Given the description of an element on the screen output the (x, y) to click on. 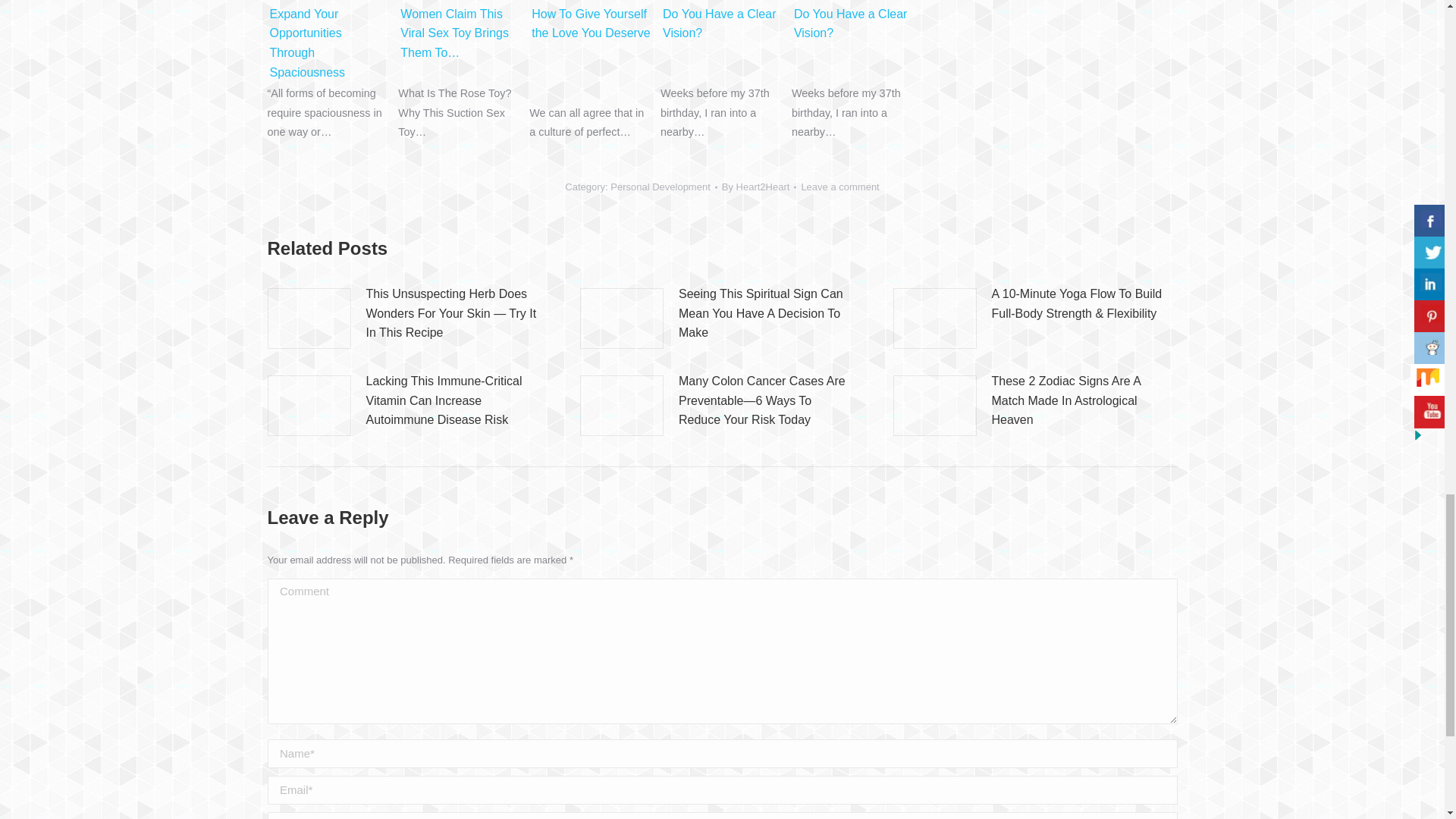
Do You Have a Clear Vision? (721, 2)
Do You Have a Clear Vision? (853, 2)
Expand Your Opportunities Through Spaciousness (328, 2)
How To Give Yourself the Love You Deserve (590, 2)
